Given the description of an element on the screen output the (x, y) to click on. 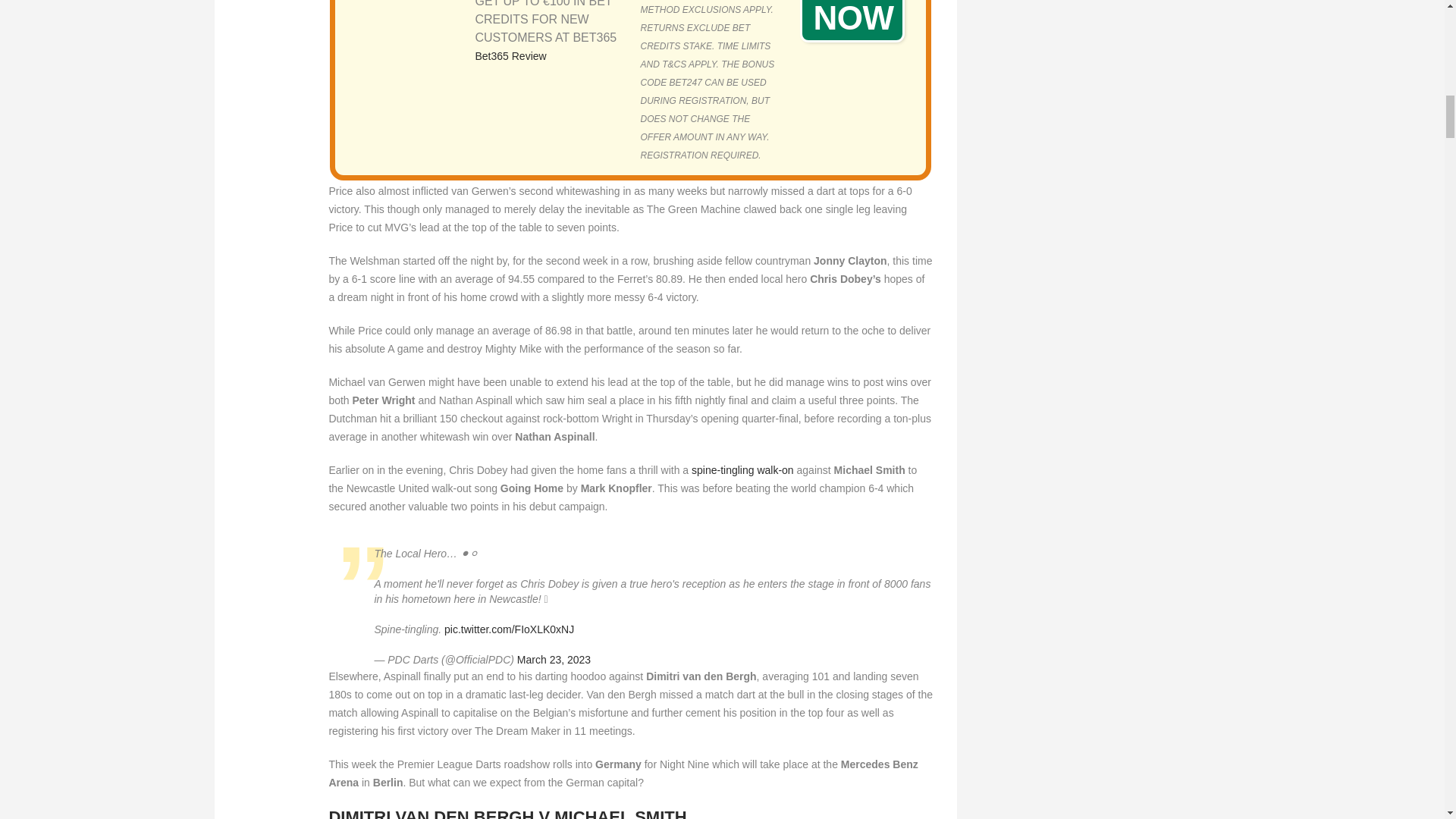
Bet365 Review (510, 55)
March 23, 2023 (553, 659)
spine-tingling walk-on (742, 469)
BET NOW (851, 21)
